Given the description of an element on the screen output the (x, y) to click on. 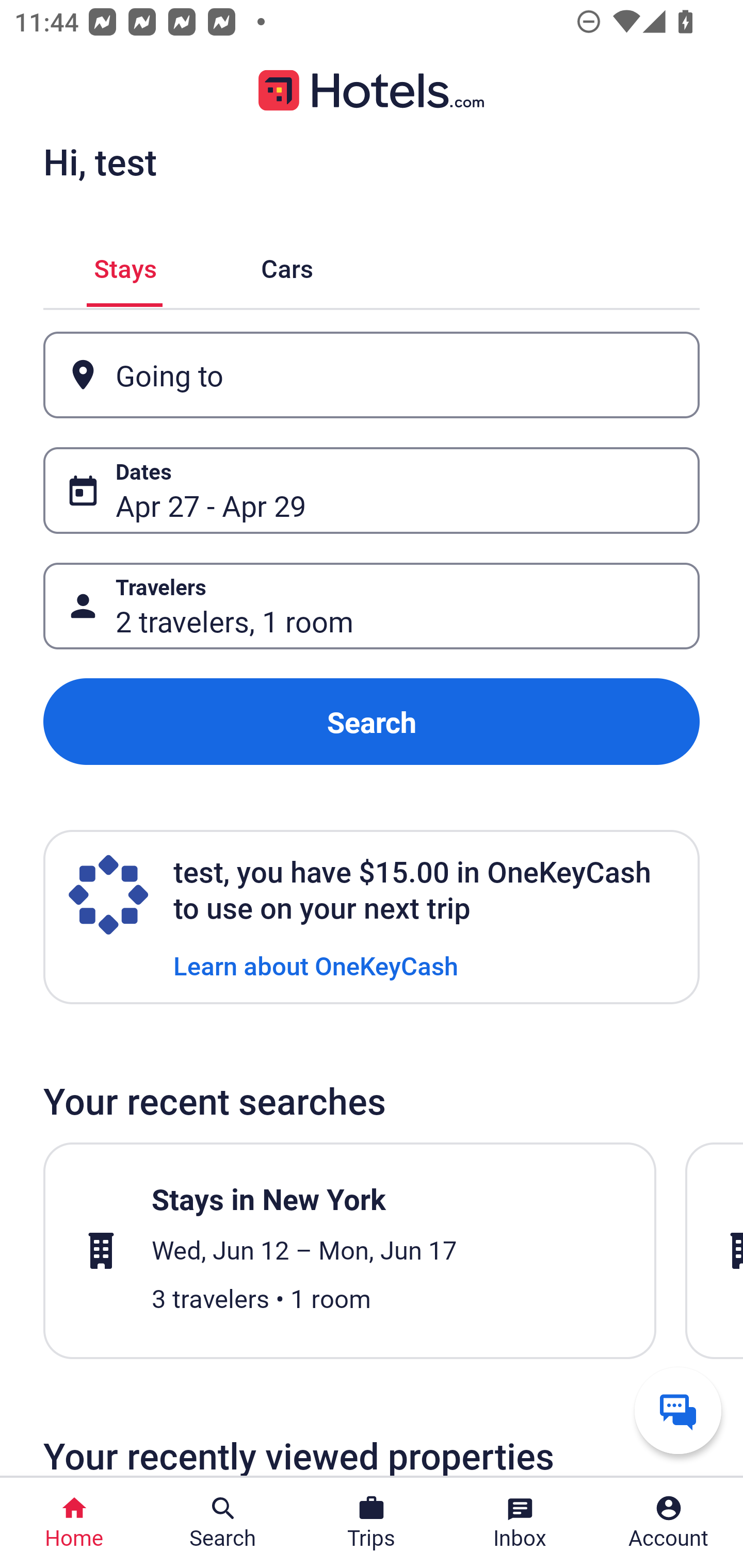
Hi, test (99, 161)
Cars (286, 265)
Going to Button (371, 375)
Dates Button Apr 27 - Apr 29 (371, 489)
Travelers Button 2 travelers, 1 room (371, 605)
Search (371, 721)
Learn about OneKeyCash Learn about OneKeyCash Link (315, 964)
Get help from a virtual agent (677, 1410)
Search Search Button (222, 1522)
Trips Trips Button (371, 1522)
Inbox Inbox Button (519, 1522)
Account Profile. Button (668, 1522)
